Given the description of an element on the screen output the (x, y) to click on. 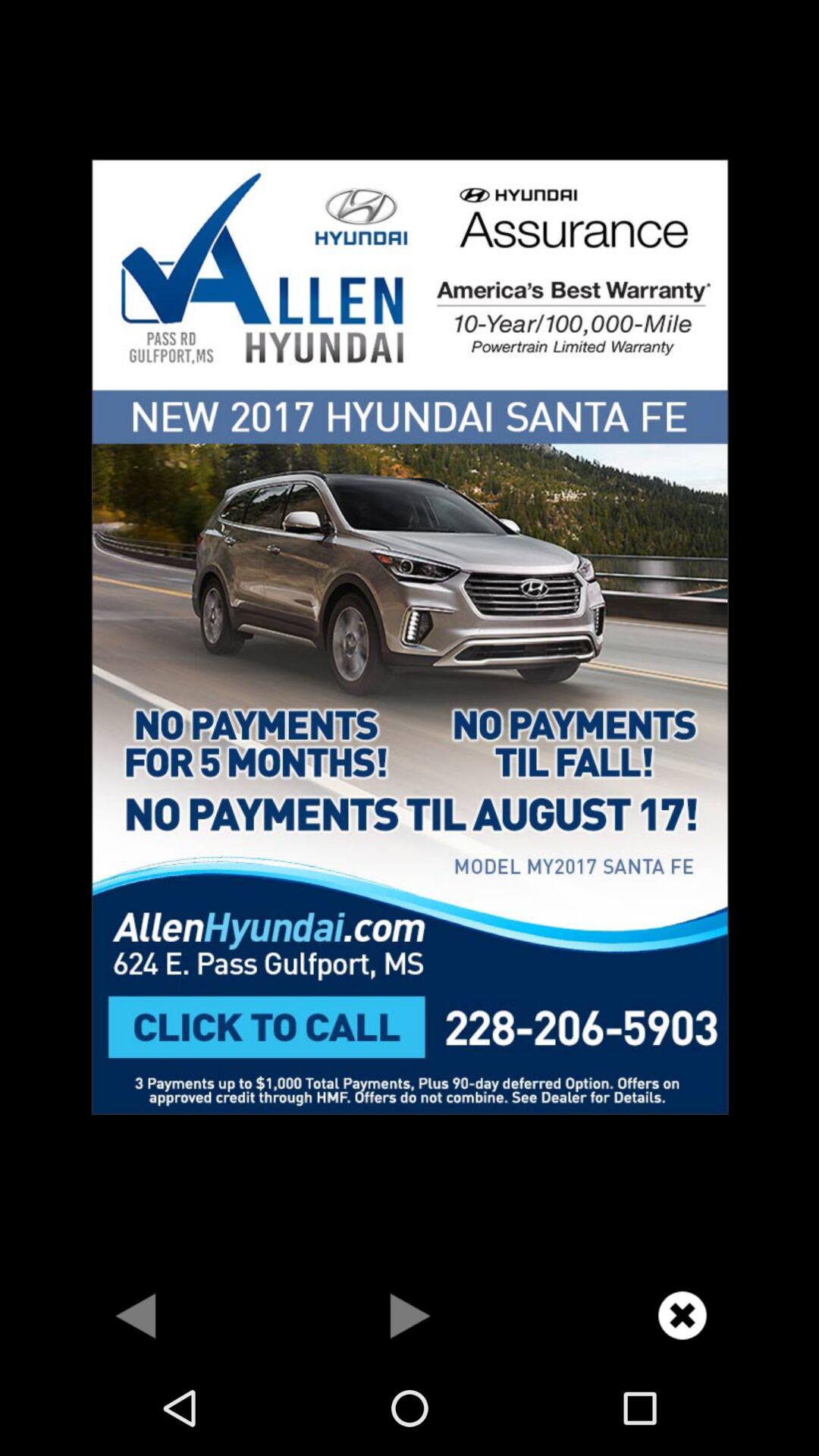
music play (409, 1315)
